Given the description of an element on the screen output the (x, y) to click on. 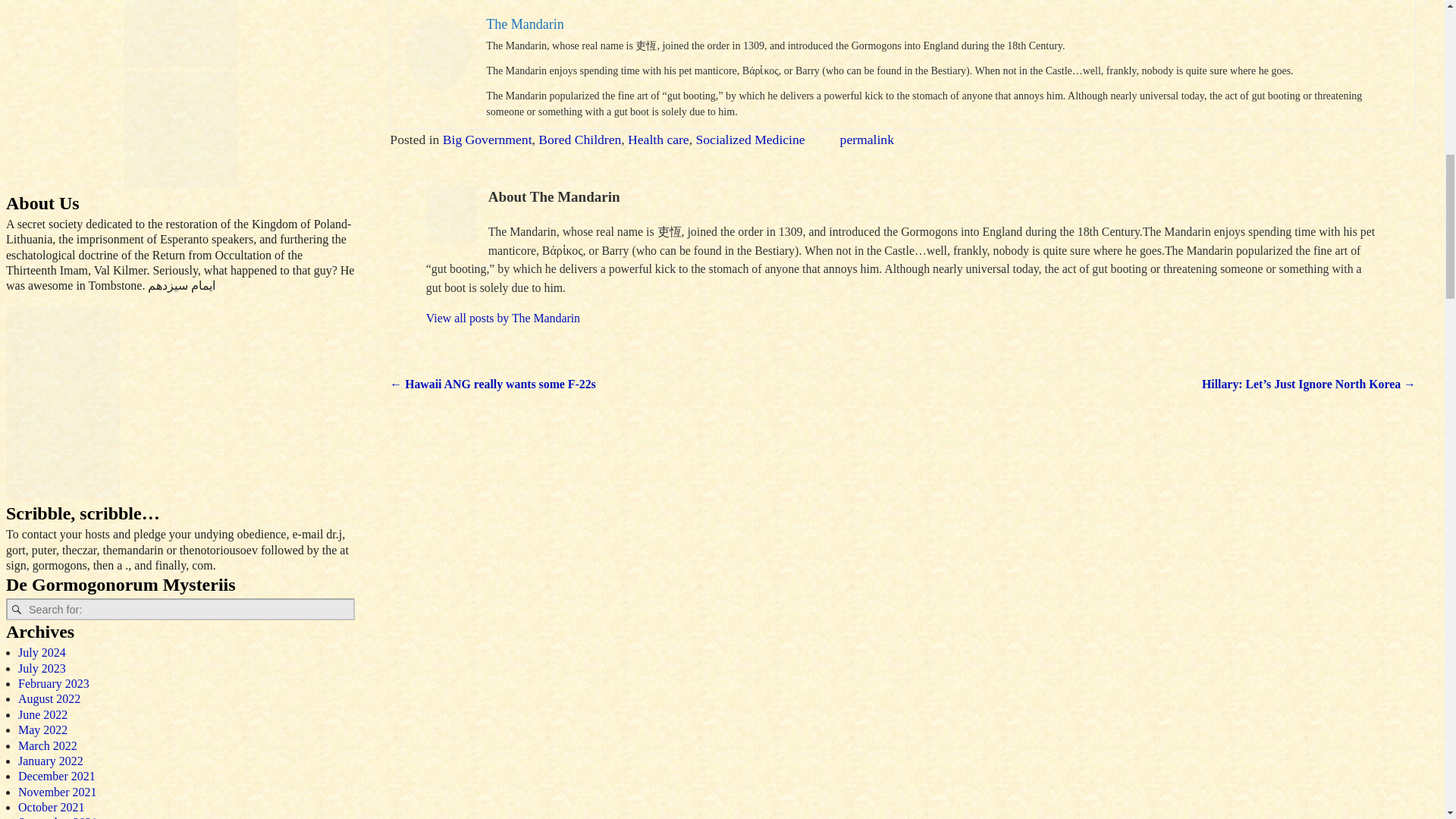
September 2021 (57, 817)
permalink (866, 139)
November 2021 (57, 791)
October 2021 (50, 807)
February 2023 (52, 683)
January 2022 (49, 760)
July 2023 (41, 667)
August 2022 (48, 698)
The Mandarin (524, 23)
Socialized Medicine (750, 139)
July 2024 (41, 652)
Bored Children (579, 139)
Big Government (487, 139)
May 2022 (41, 729)
View all posts by The Mandarin (502, 318)
